Given the description of an element on the screen output the (x, y) to click on. 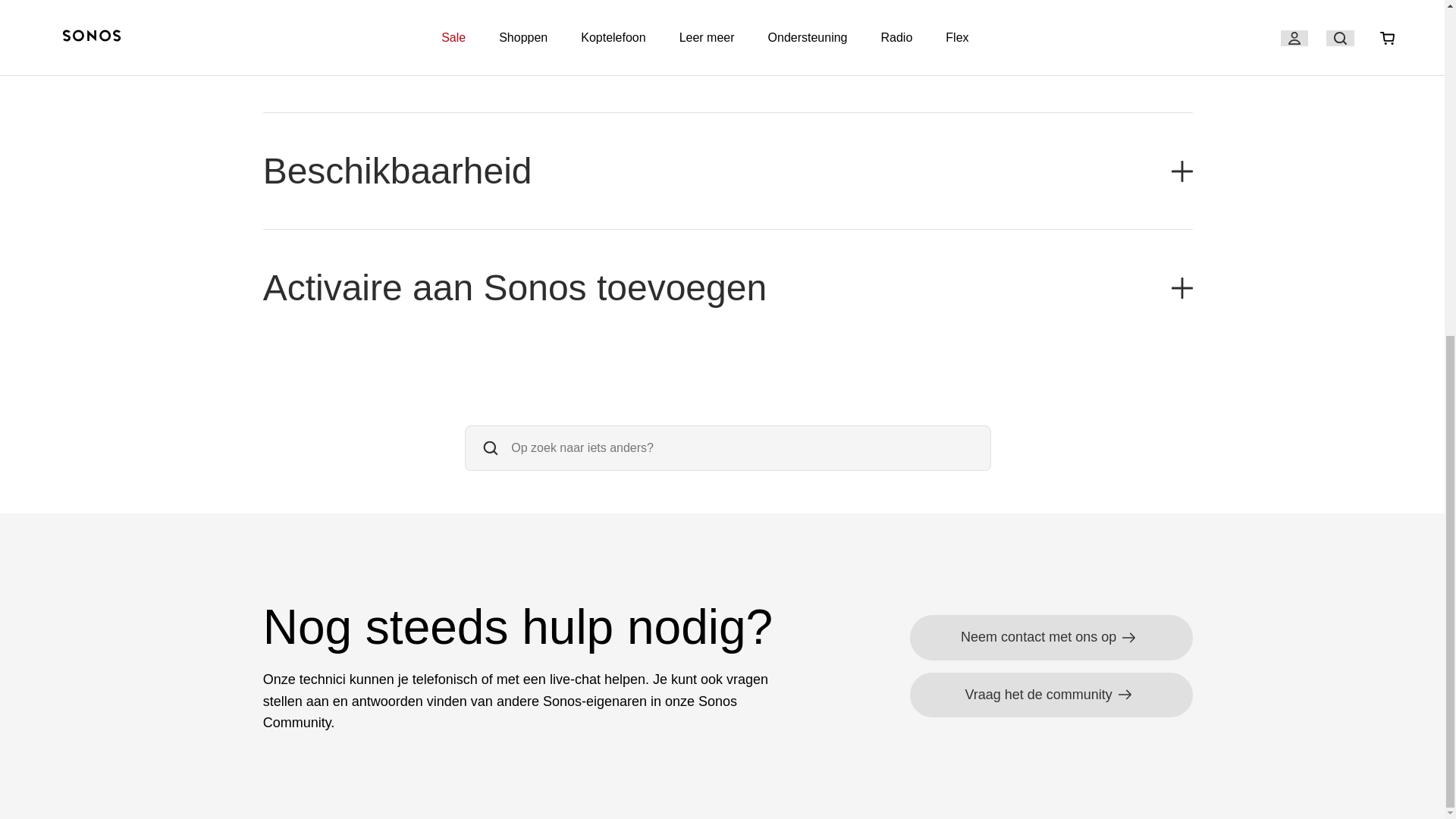
Neem contact met ons op (1051, 637)
Vraag het de community (1051, 694)
